Given the description of an element on the screen output the (x, y) to click on. 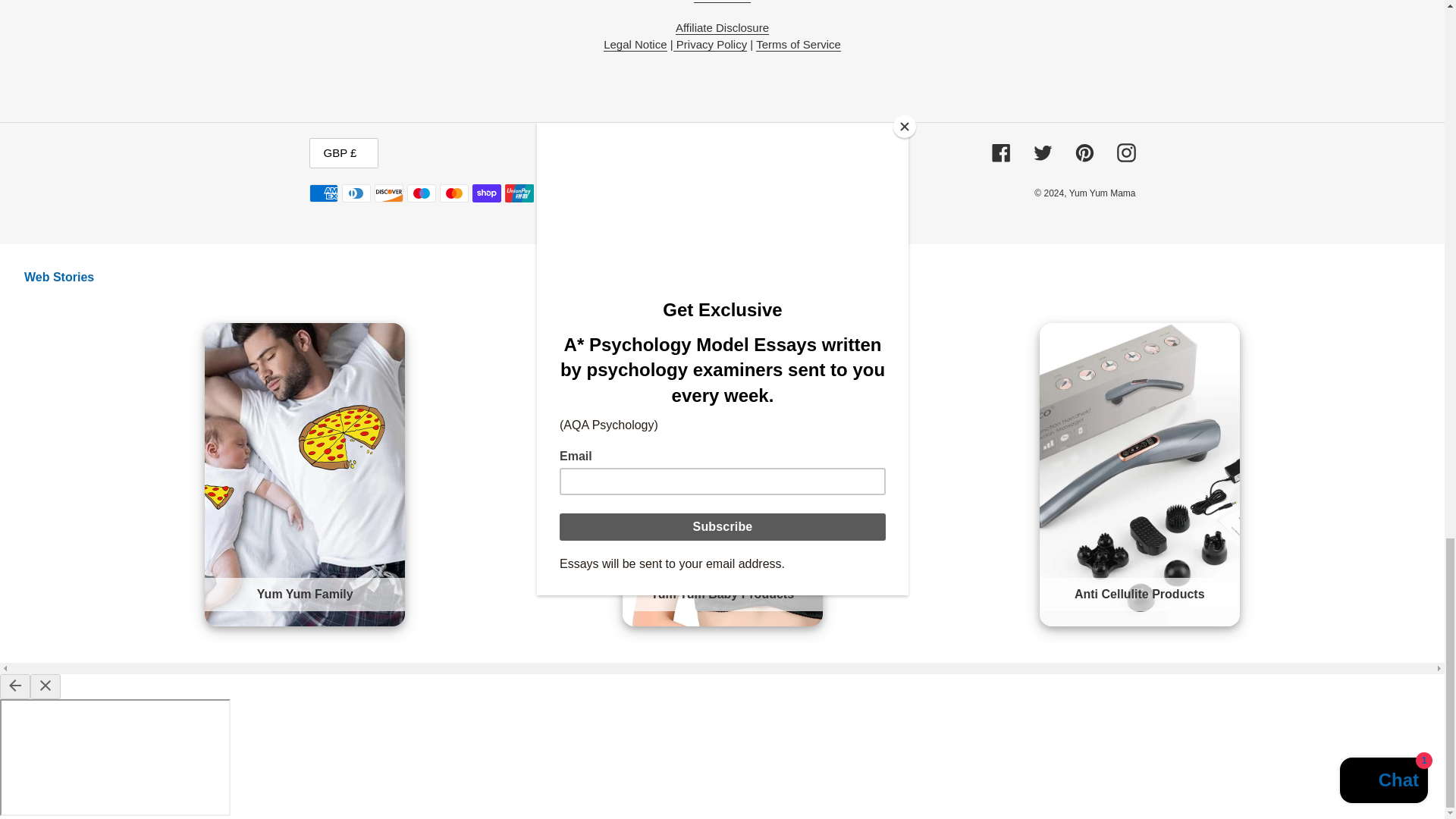
Terms of Service (798, 44)
Legal Notice (635, 44)
Privacy Policy (710, 44)
